Given the description of an element on the screen output the (x, y) to click on. 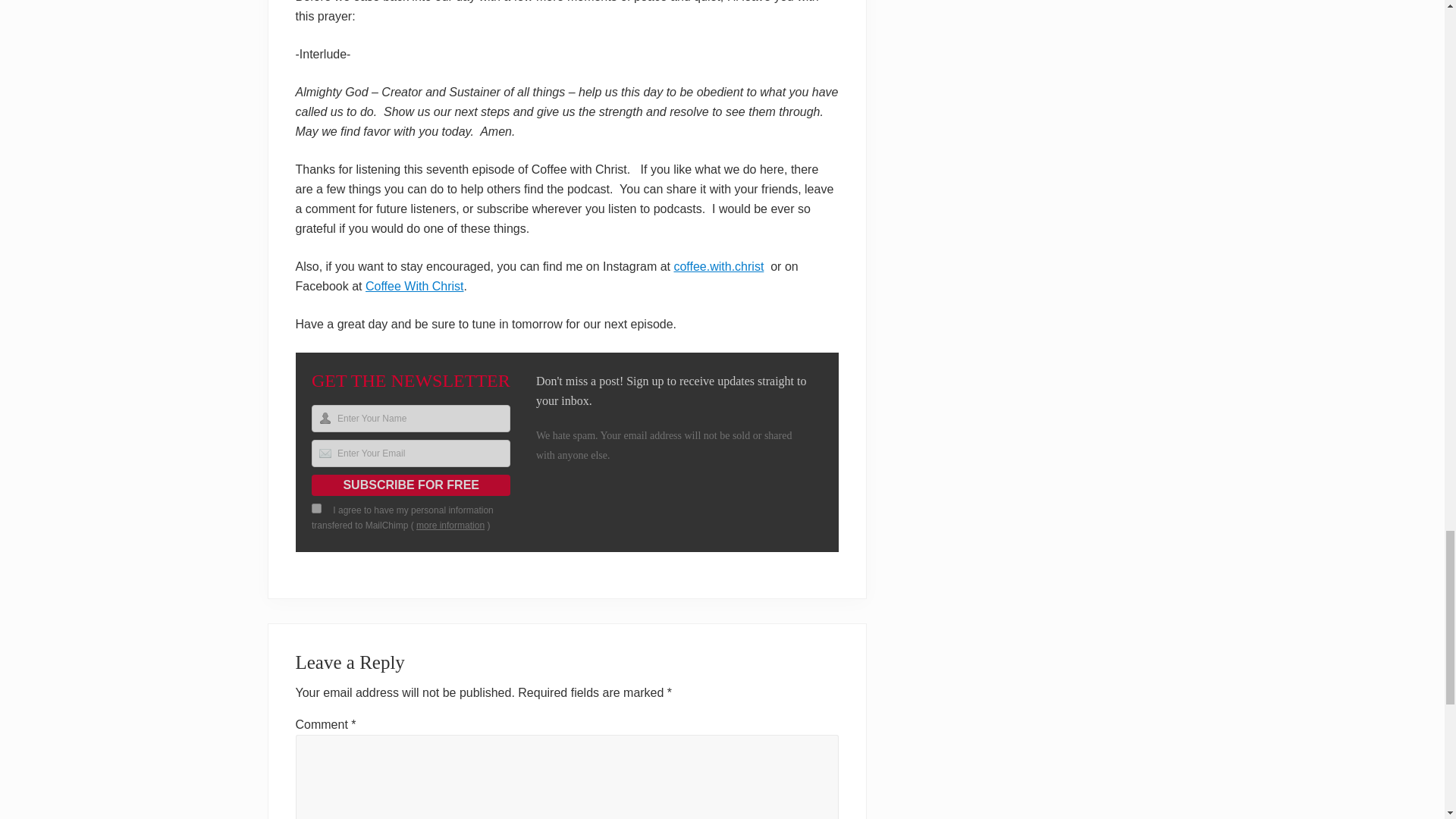
on (316, 508)
SUBSCRIBE FOR FREE (411, 485)
